Given the description of an element on the screen output the (x, y) to click on. 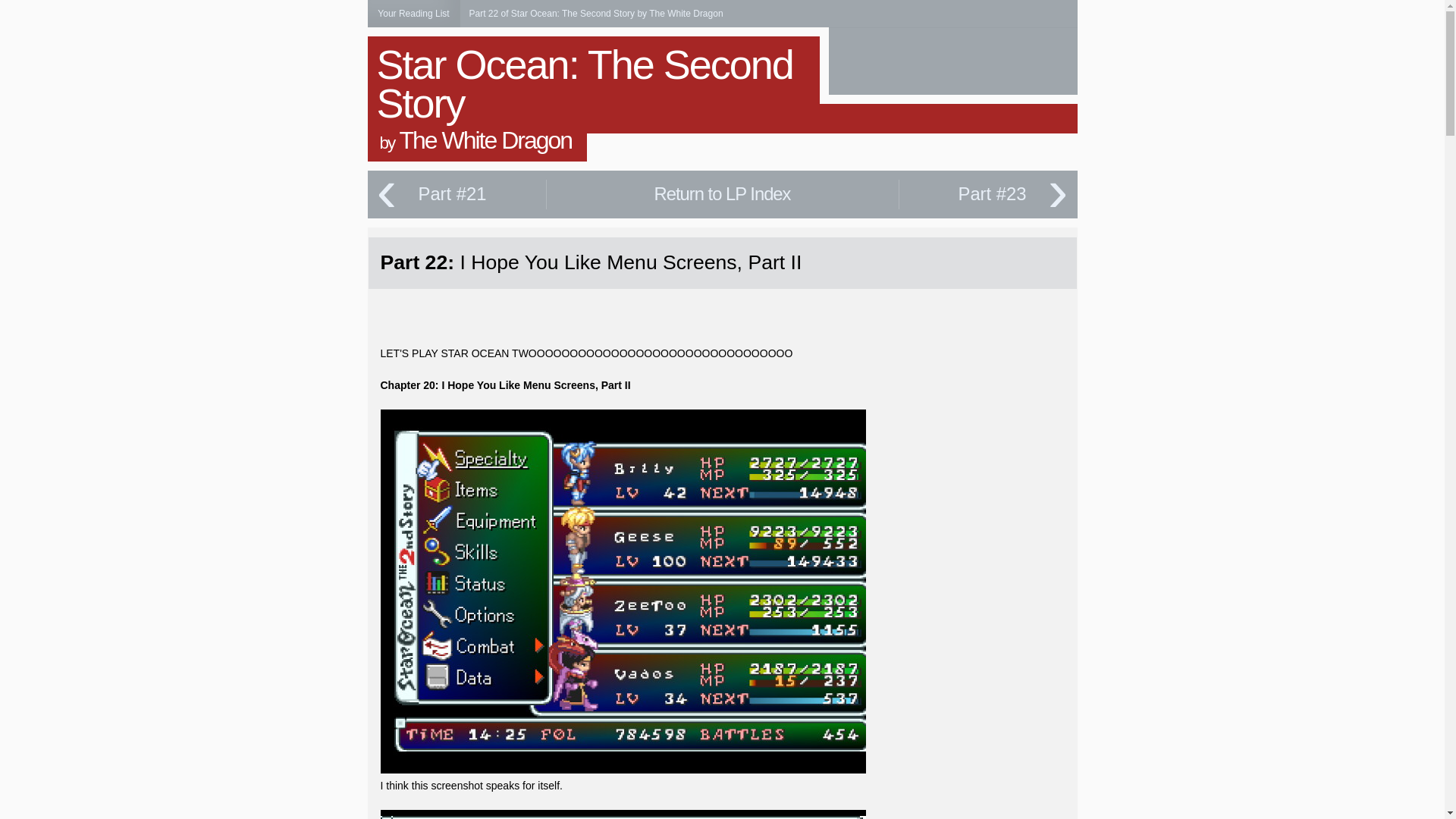
Click to expand and view your full reading list (413, 13)
Part 22 of Star Ocean: The Second Story by The White Dragon (595, 13)
The White Dragon (485, 139)
